Given the description of an element on the screen output the (x, y) to click on. 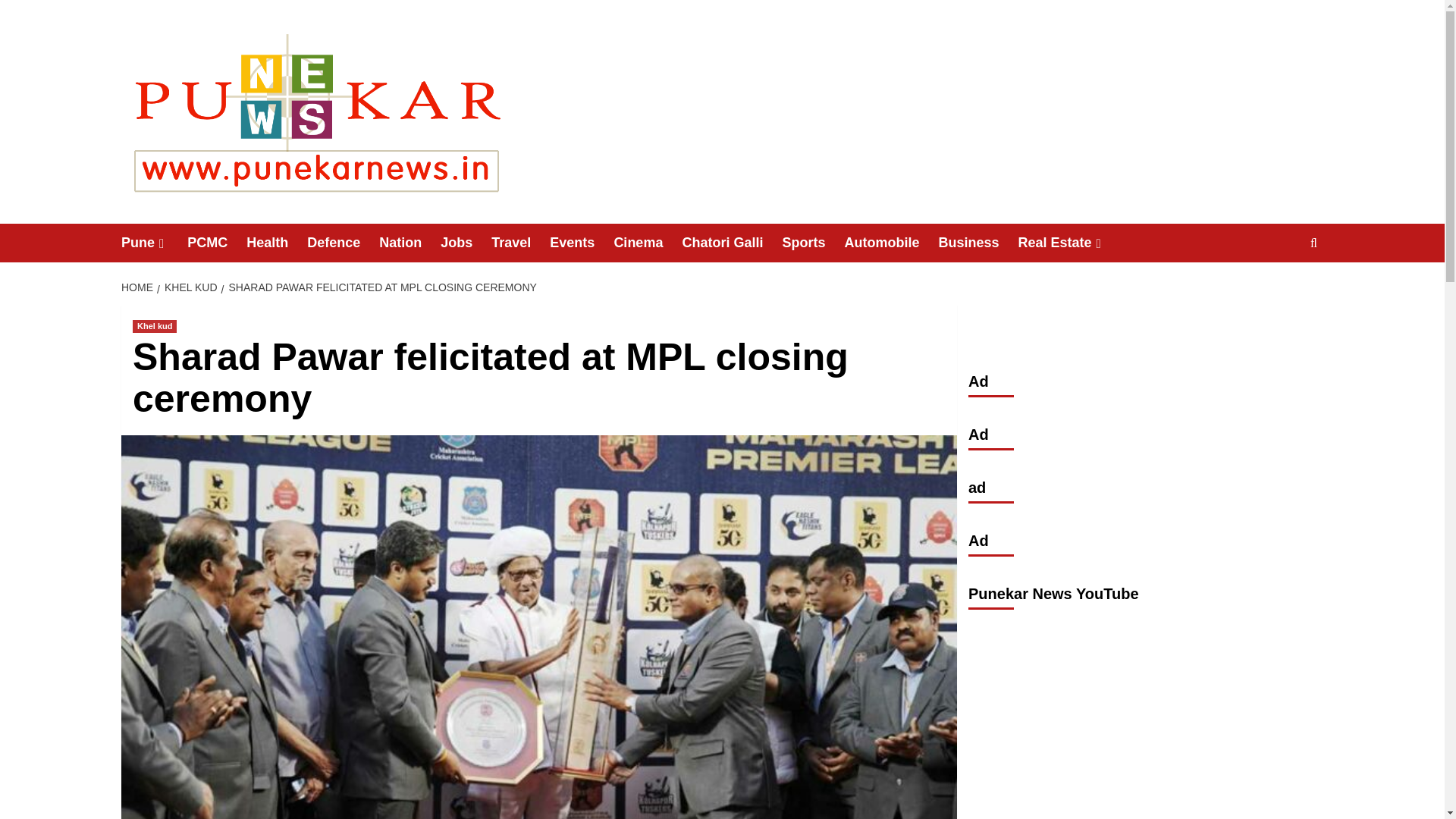
Chatori Galli (731, 242)
Nation (409, 242)
Search (1278, 289)
Cinema (646, 242)
Business (977, 242)
Jobs (466, 242)
KHEL KUD (189, 287)
SHARAD PAWAR FELICITATED AT MPL CLOSING CEREMONY (380, 287)
HOME (138, 287)
Real Estate (1070, 242)
Health (276, 242)
Sports (812, 242)
Pune (153, 242)
Automobile (890, 242)
